Given the description of an element on the screen output the (x, y) to click on. 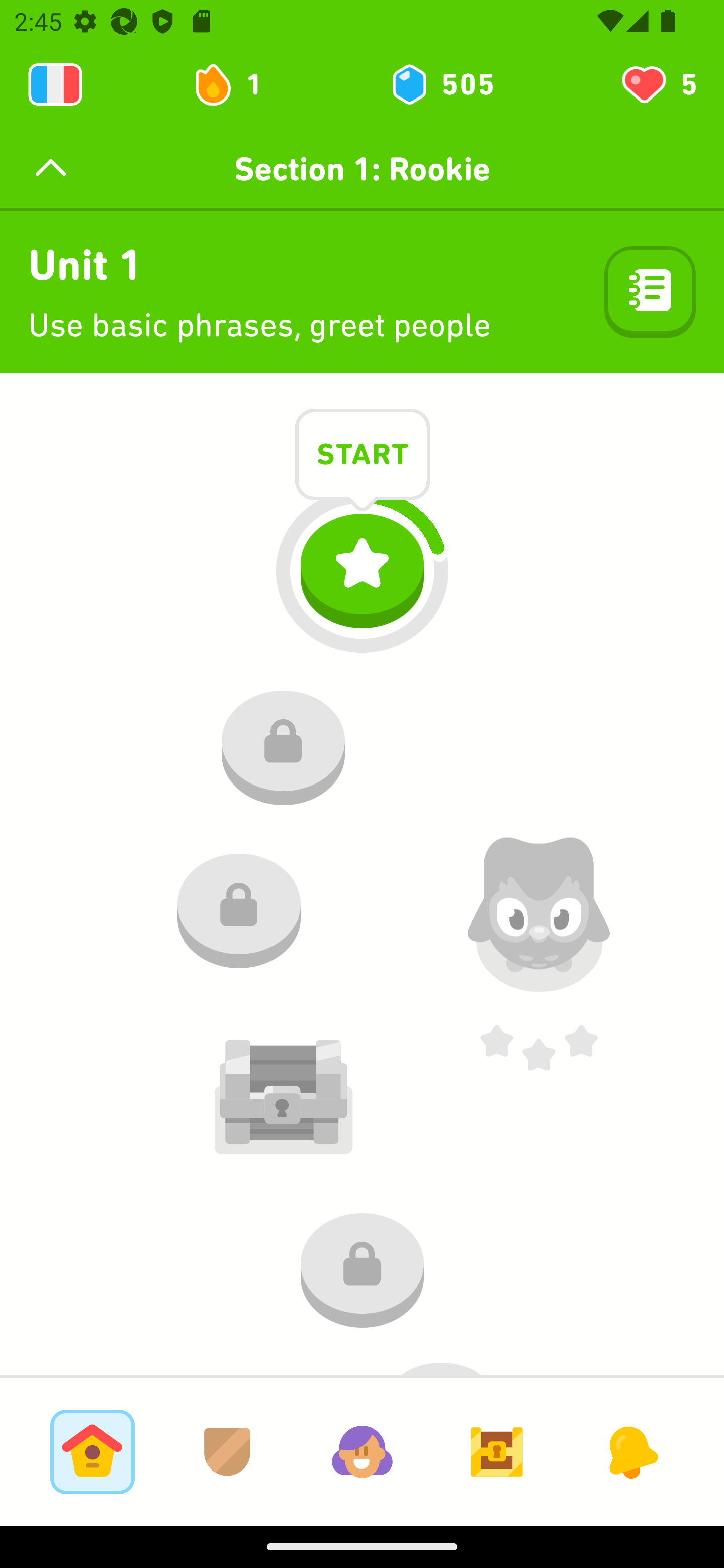
Learning 2131888976 (55, 84)
1 day streak 1 (236, 84)
505 (441, 84)
You have 5 hearts left 5 (657, 84)
Section 1: Rookie (362, 169)
START (362, 457)
Learn Tab (91, 1451)
Leagues Tab (227, 1451)
Profile Tab (361, 1451)
Goals Tab (496, 1451)
News Tab (631, 1451)
